Given the description of an element on the screen output the (x, y) to click on. 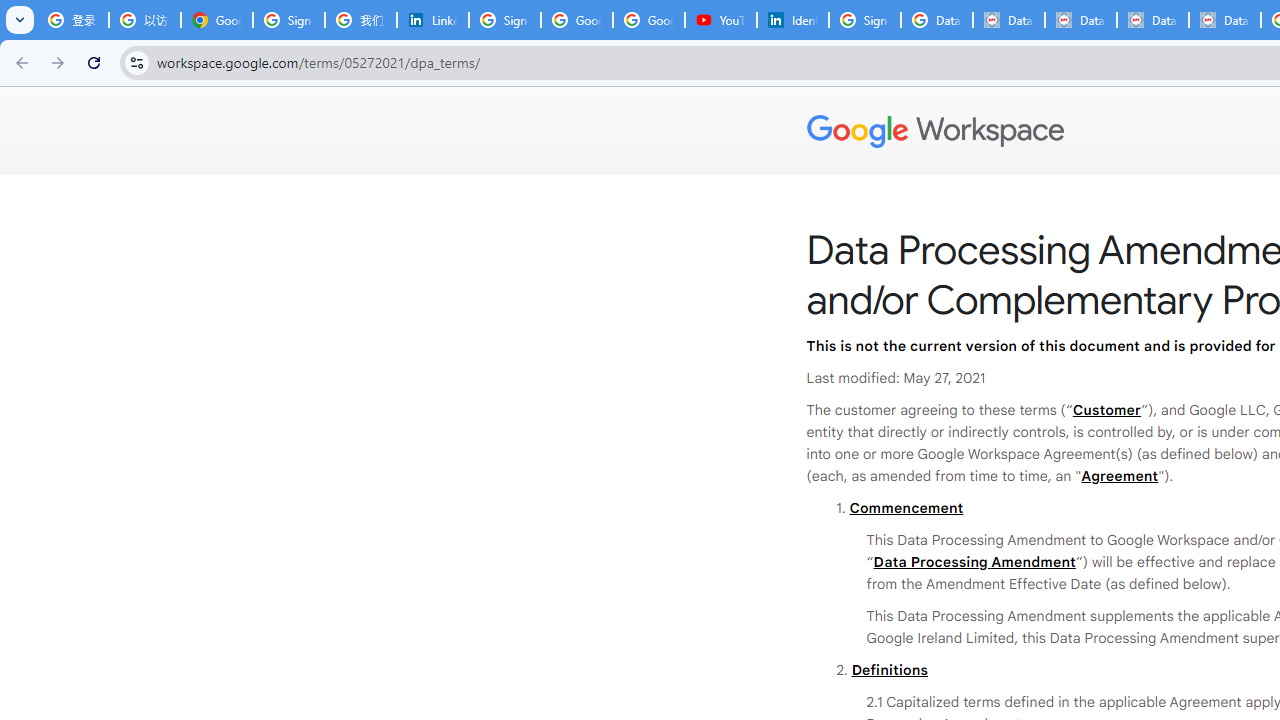
Sign in - Google Accounts (504, 20)
Sign in - Google Accounts (865, 20)
Data Privacy Framework (1008, 20)
Data Privacy Framework (1080, 20)
LinkedIn Privacy Policy (432, 20)
